Given the description of an element on the screen output the (x, y) to click on. 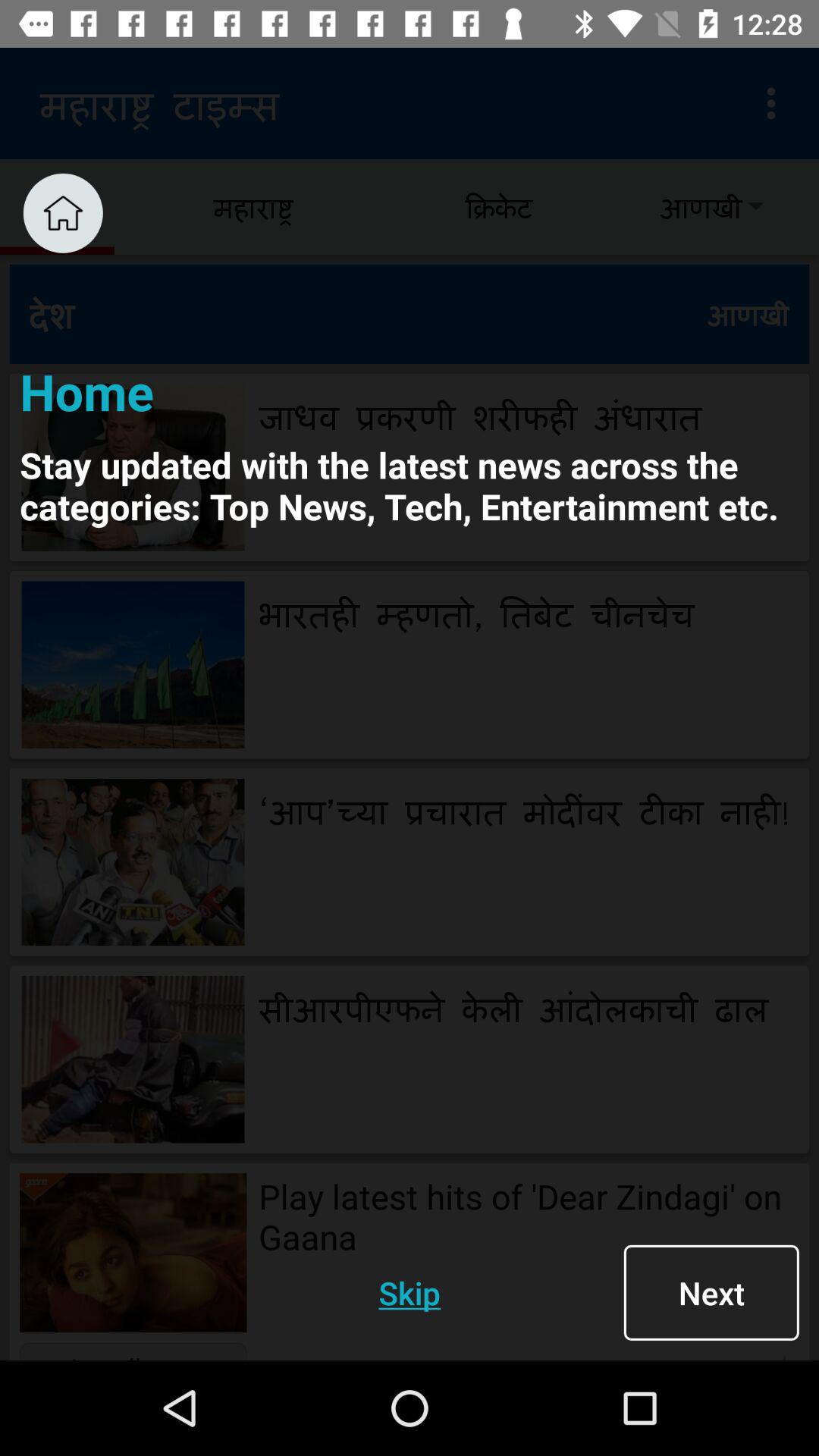
go home (62, 213)
